Given the description of an element on the screen output the (x, y) to click on. 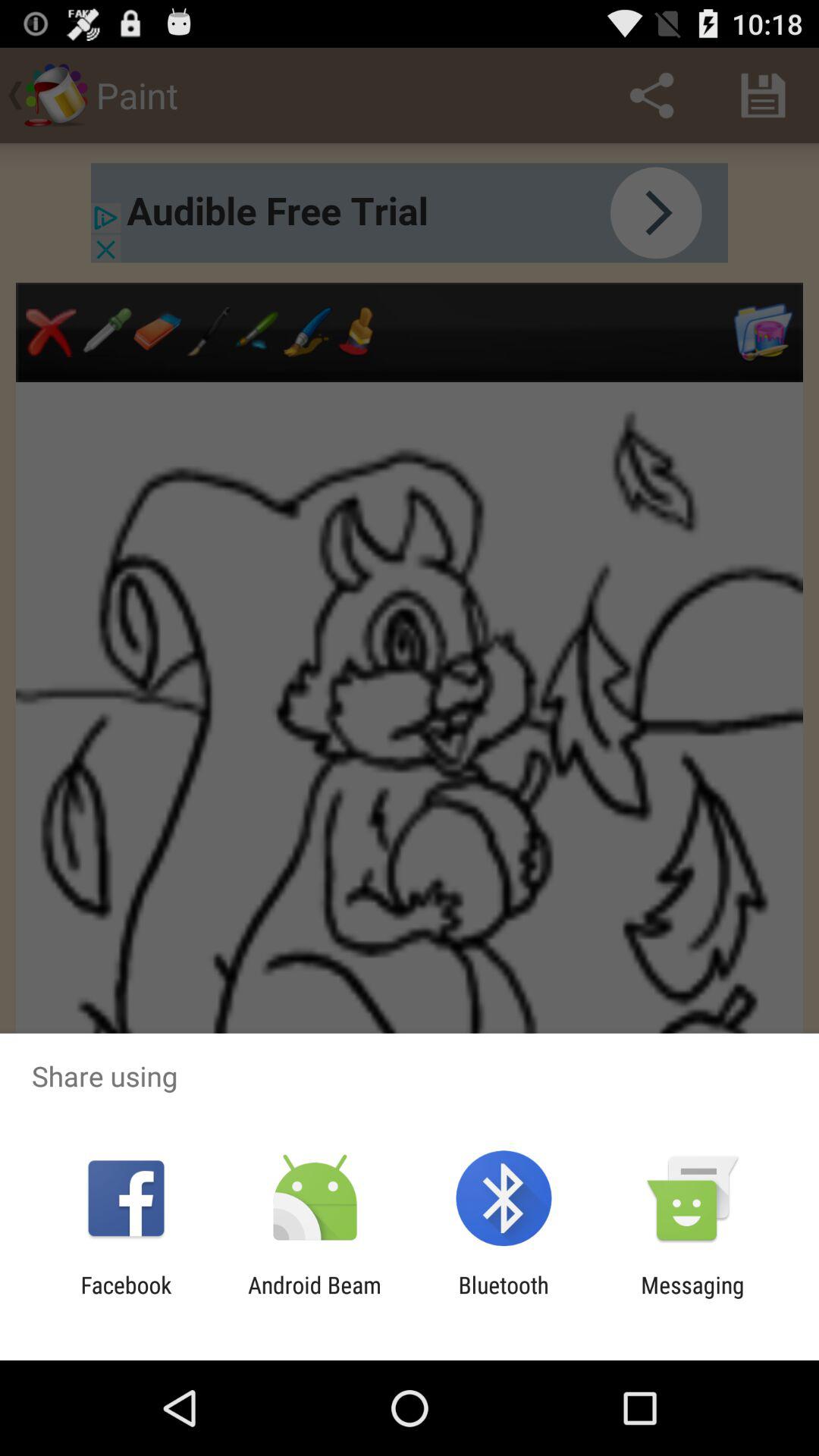
turn off icon next to android beam item (125, 1298)
